Given the description of an element on the screen output the (x, y) to click on. 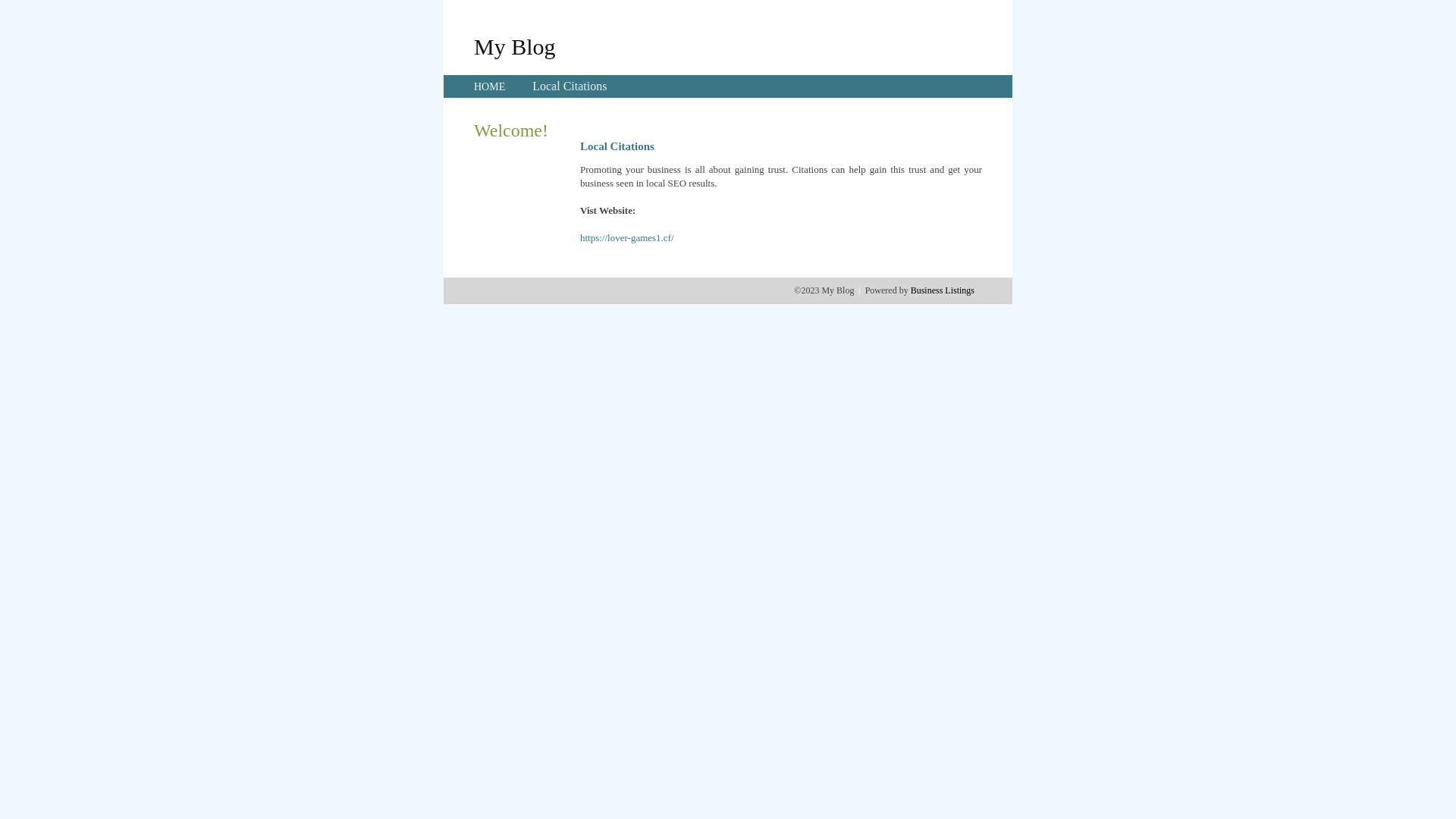
HOME Element type: text (489, 86)
Local Citations Element type: text (569, 85)
My Blog Element type: text (514, 46)
https://lover-games1.cf/ Element type: text (627, 237)
Business Listings Element type: text (942, 290)
